Given the description of an element on the screen output the (x, y) to click on. 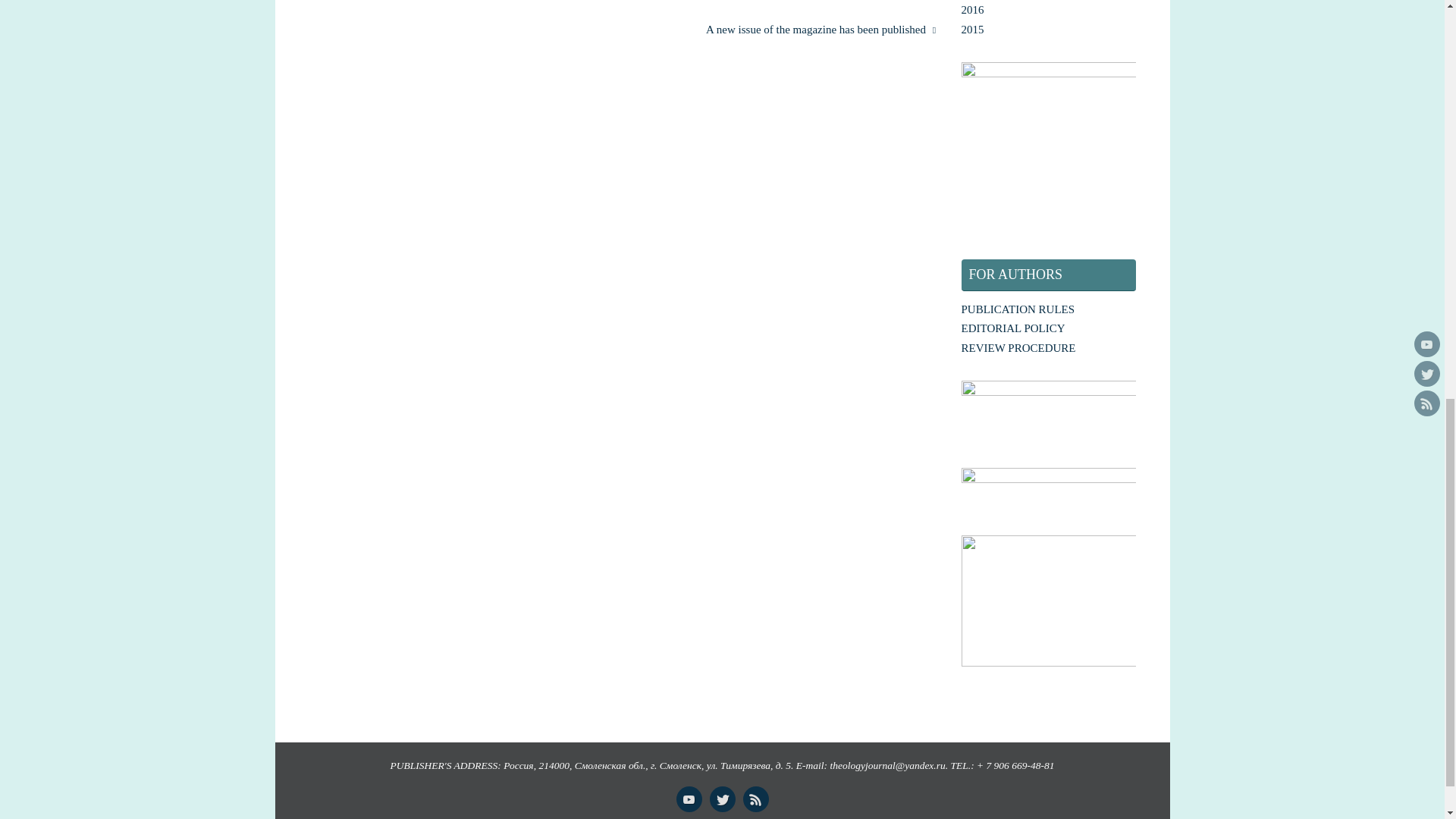
A new issue of the magazine has been published (792, 30)
Twitter (722, 799)
RSS (755, 799)
YouTube (689, 799)
